Given the description of an element on the screen output the (x, y) to click on. 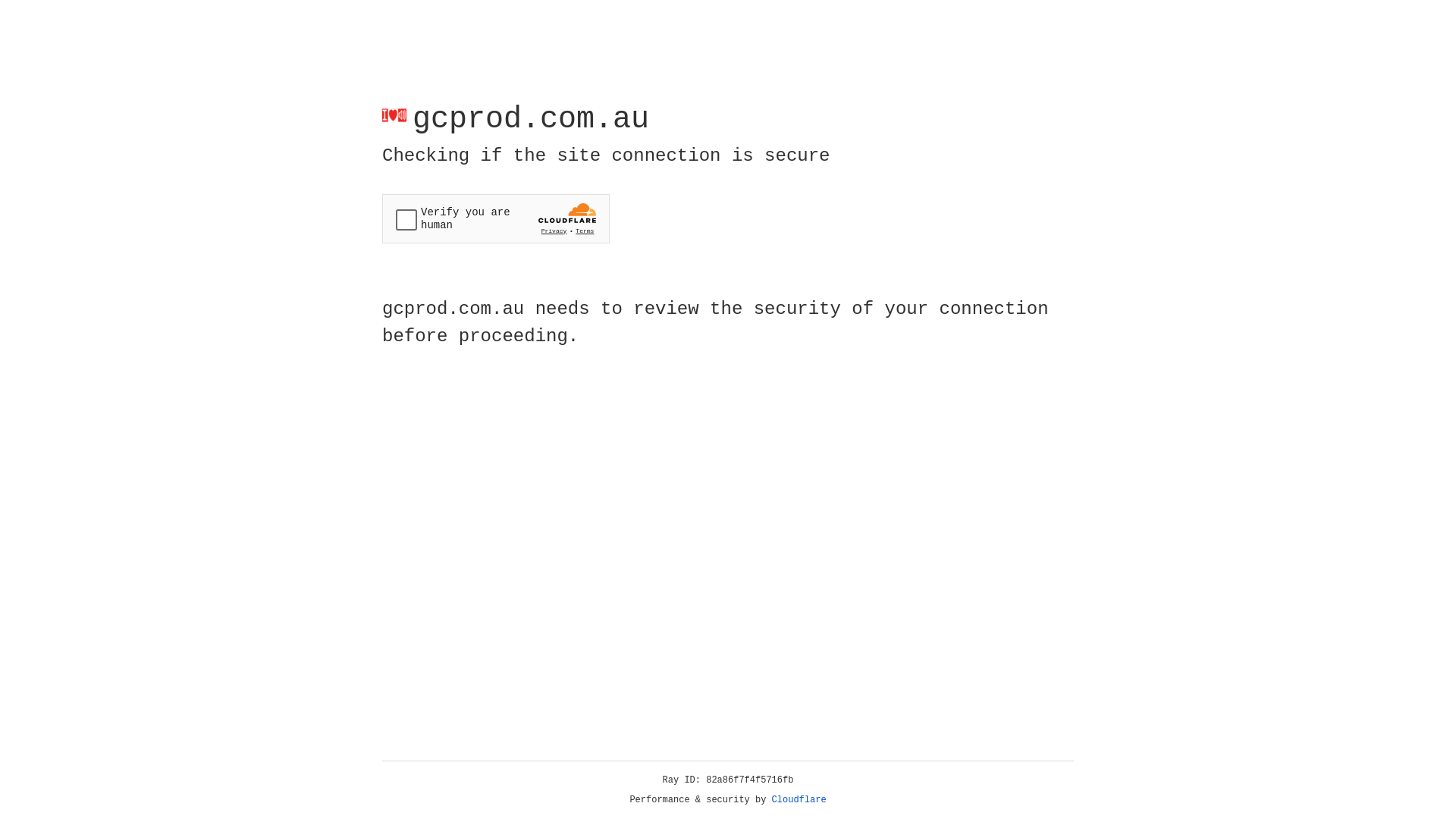
Cloudflare Element type: text (798, 799)
Widget containing a Cloudflare security challenge Element type: hover (495, 218)
